Given the description of an element on the screen output the (x, y) to click on. 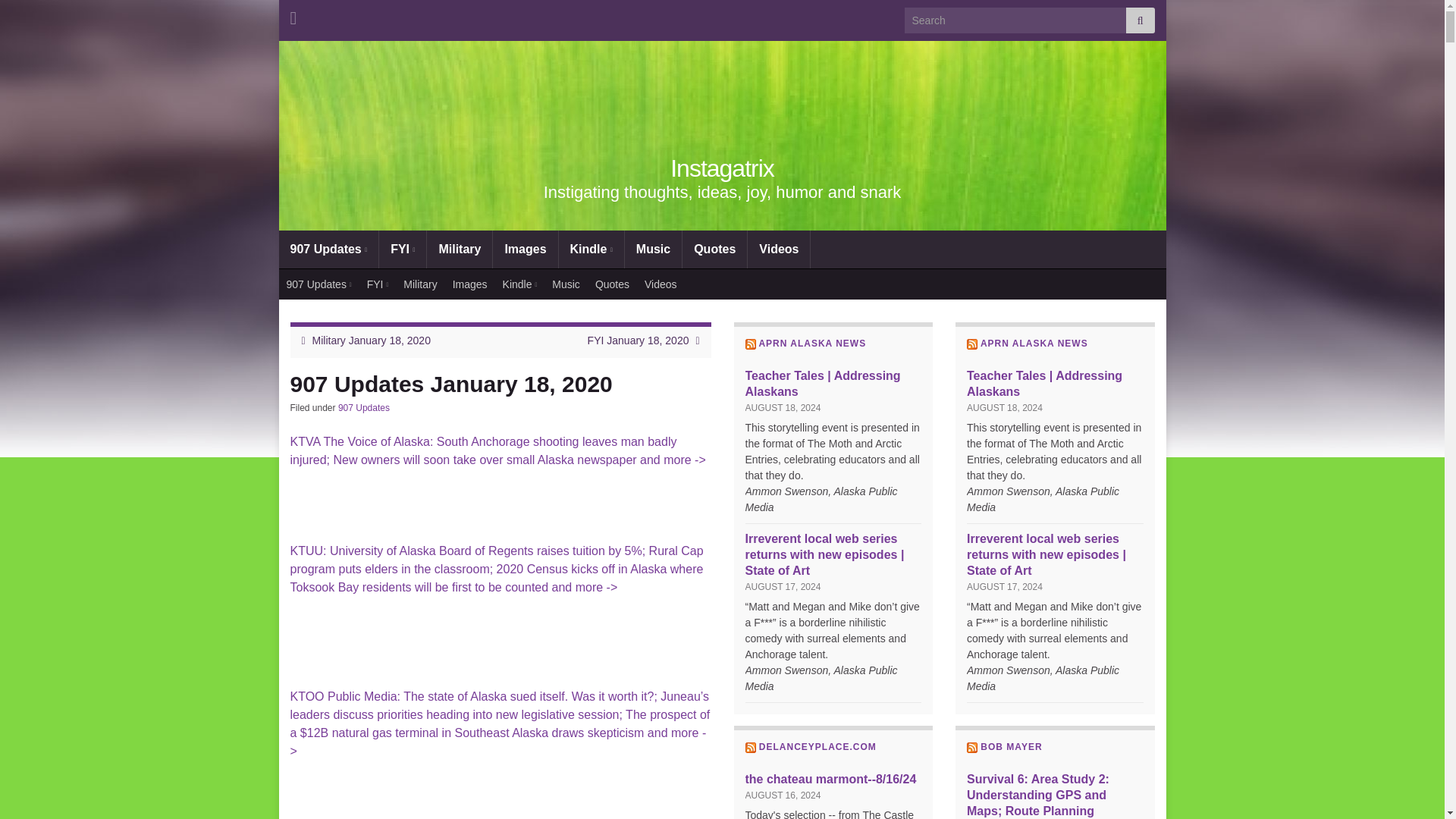
Kindle (591, 249)
Instagatrix (721, 167)
FYI (377, 284)
Images (470, 284)
FYI (402, 249)
Images (525, 249)
Videos (660, 284)
Military January 18, 2020 (371, 340)
FYI January 18, 2020 (638, 340)
Videos (778, 249)
